Given the description of an element on the screen output the (x, y) to click on. 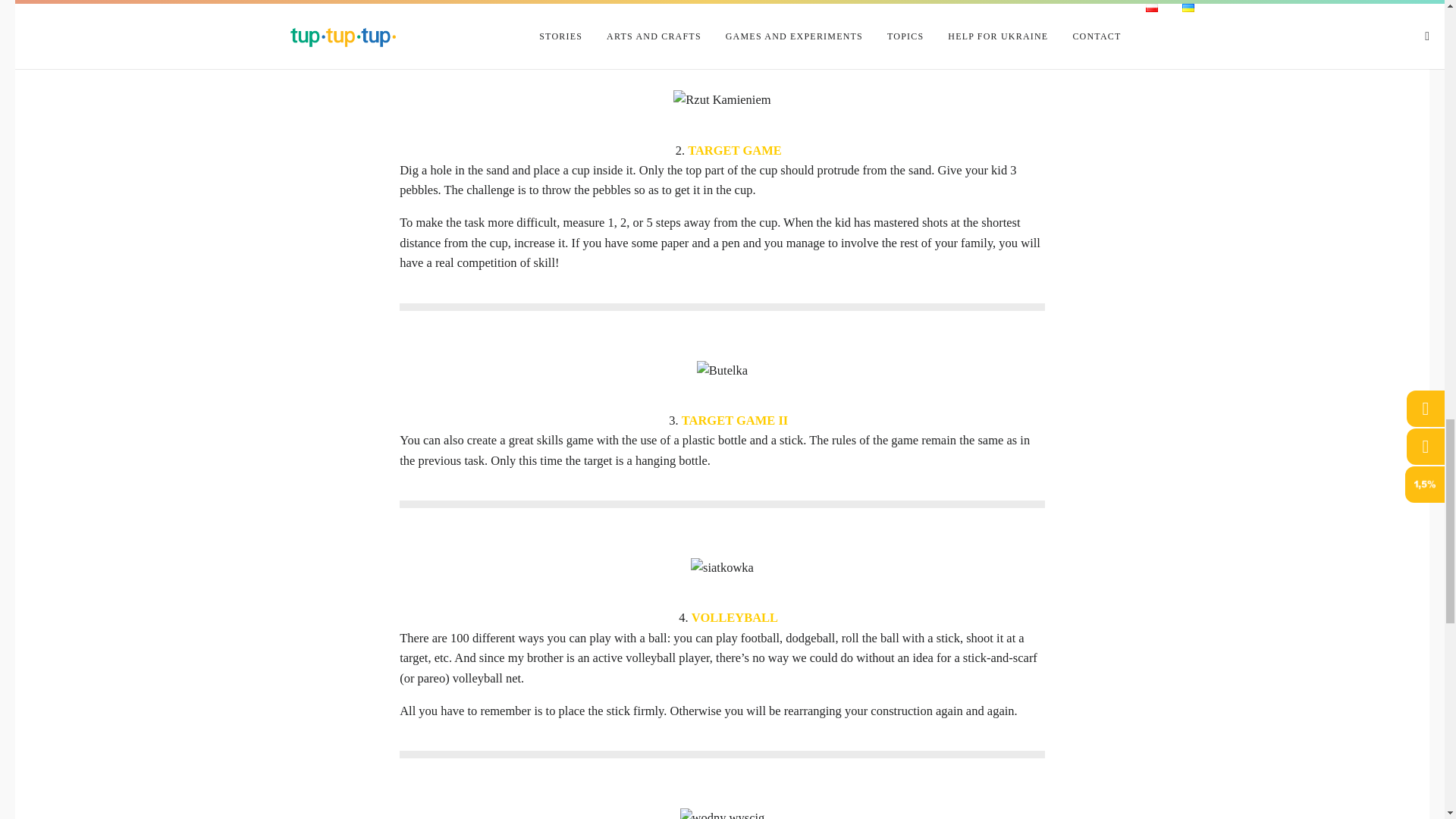
siatkowka (722, 567)
butelka (722, 370)
wodny wyscig (722, 813)
rzut kamieniem (721, 99)
